Given the description of an element on the screen output the (x, y) to click on. 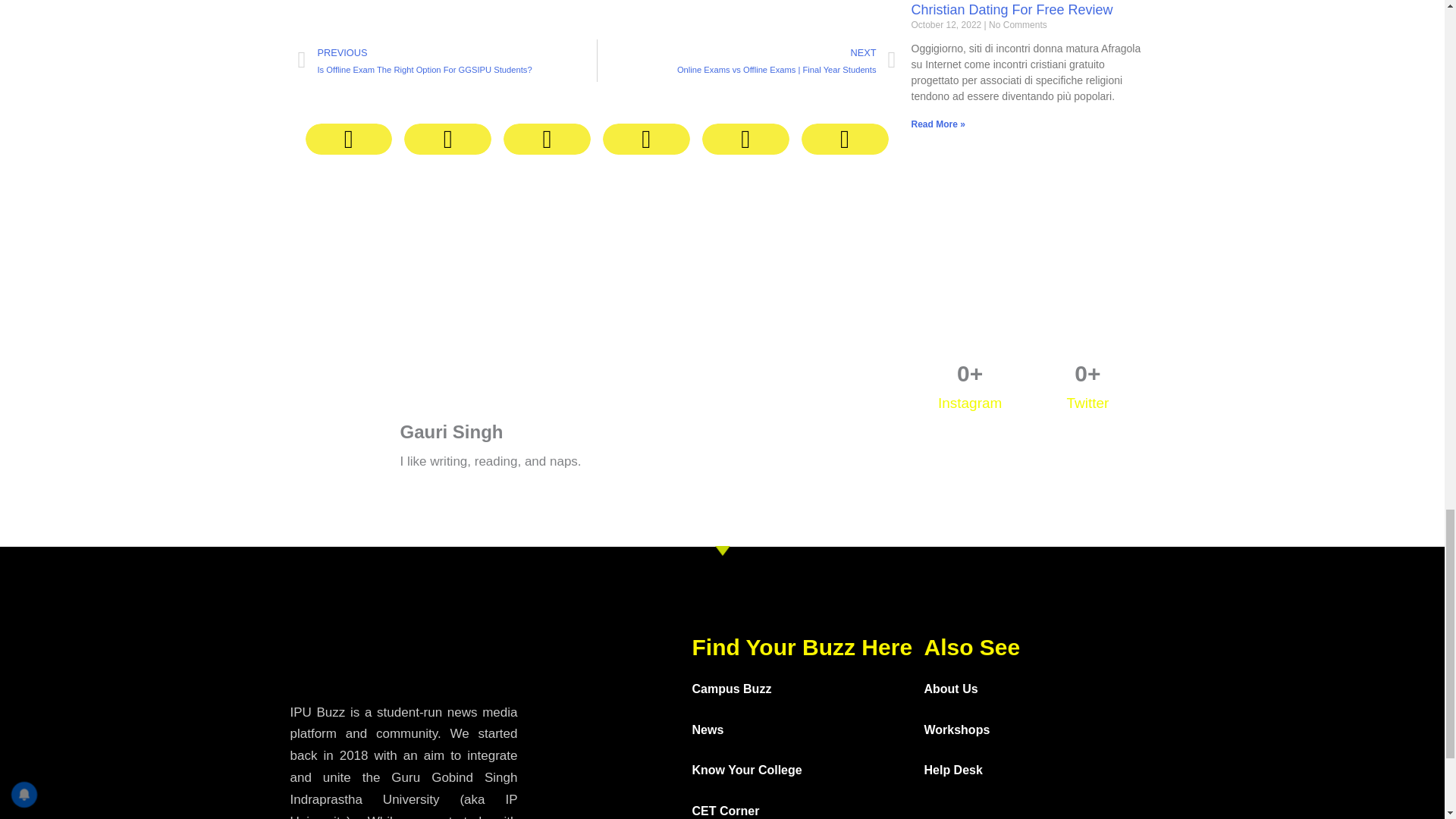
Advertisement (1029, 244)
Advertisement (596, 291)
